Given the description of an element on the screen output the (x, y) to click on. 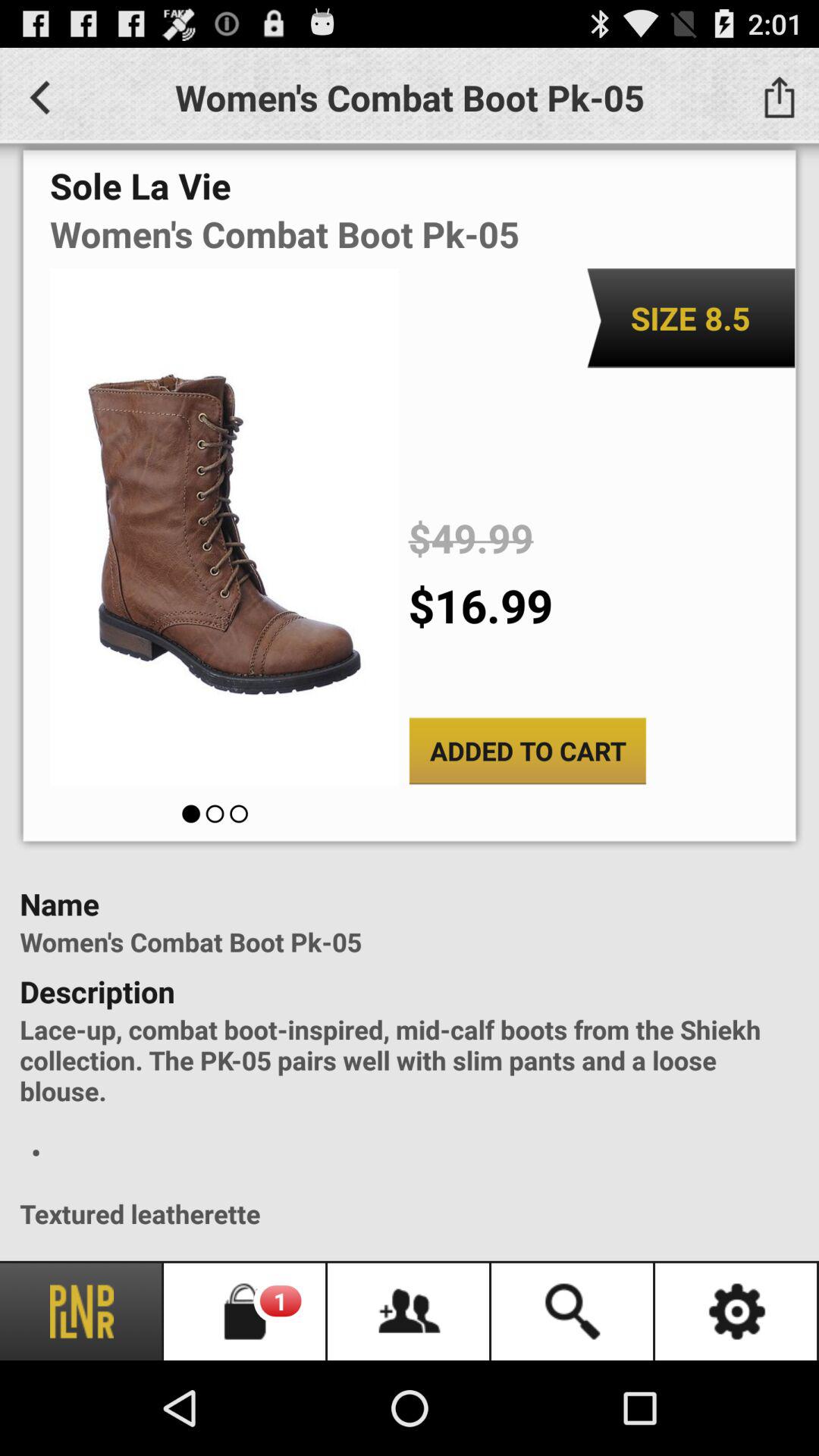
jump to the added to cart icon (527, 751)
